Given the description of an element on the screen output the (x, y) to click on. 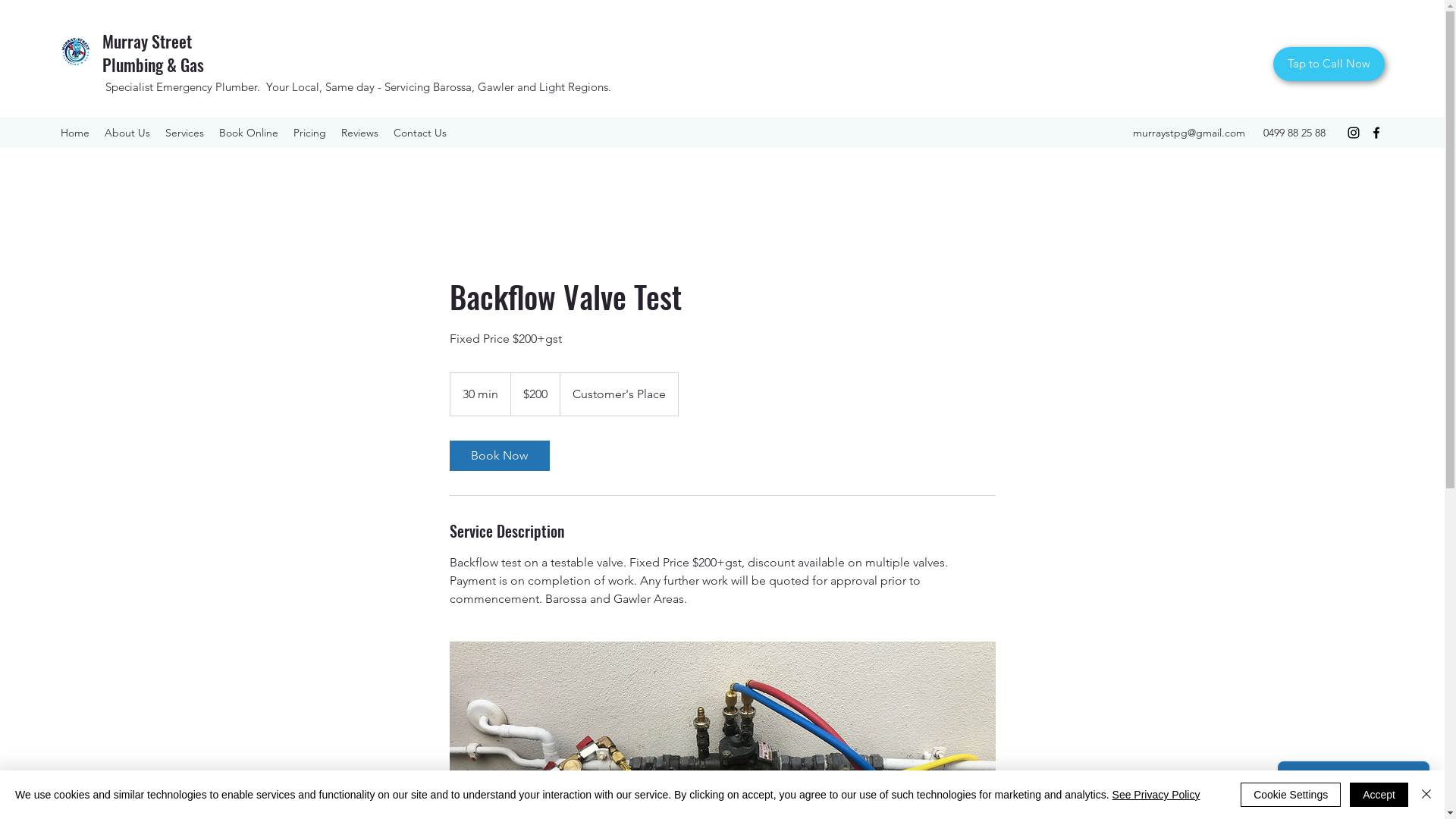
Murray Street Element type: text (146, 40)
Plumbing & Gas Element type: text (152, 64)
About Us Element type: text (127, 132)
Pricing Element type: text (309, 132)
Book Now Element type: text (498, 455)
See Privacy Policy Element type: text (1156, 794)
Book Online Element type: text (248, 132)
murraystpg@gmail.com Element type: text (1188, 132)
Contact Us Element type: text (419, 132)
Tap to Call Now Element type: text (1328, 64)
Services Element type: text (184, 132)
Cookie Settings Element type: text (1290, 794)
Reviews Element type: text (359, 132)
Accept Element type: text (1378, 794)
Home Element type: text (75, 132)
